Given the description of an element on the screen output the (x, y) to click on. 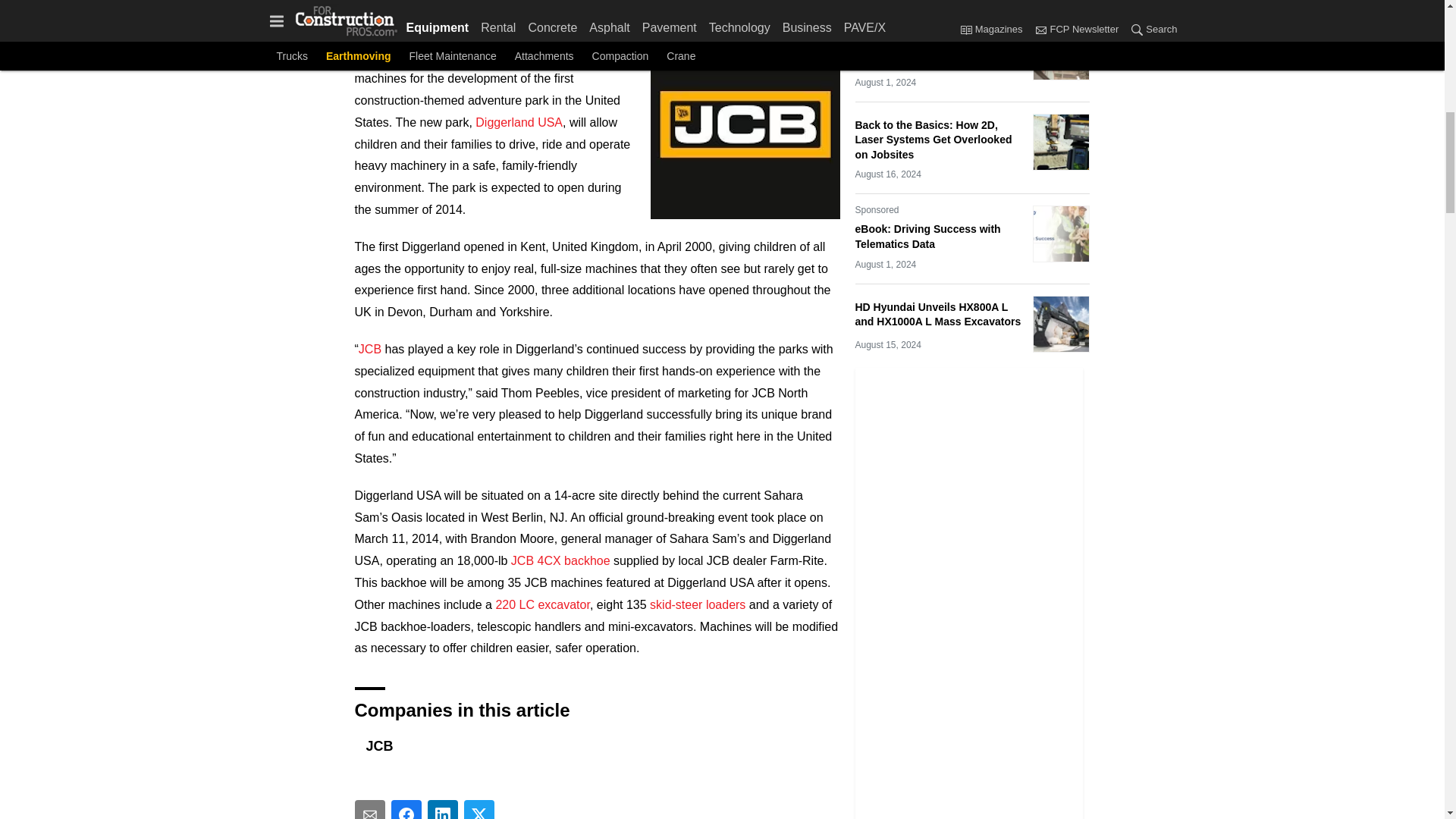
Share To email (370, 809)
Share To facebook (406, 809)
Sponsored (877, 28)
Share To linkedin (443, 809)
Share To twitter (479, 809)
